Given the description of an element on the screen output the (x, y) to click on. 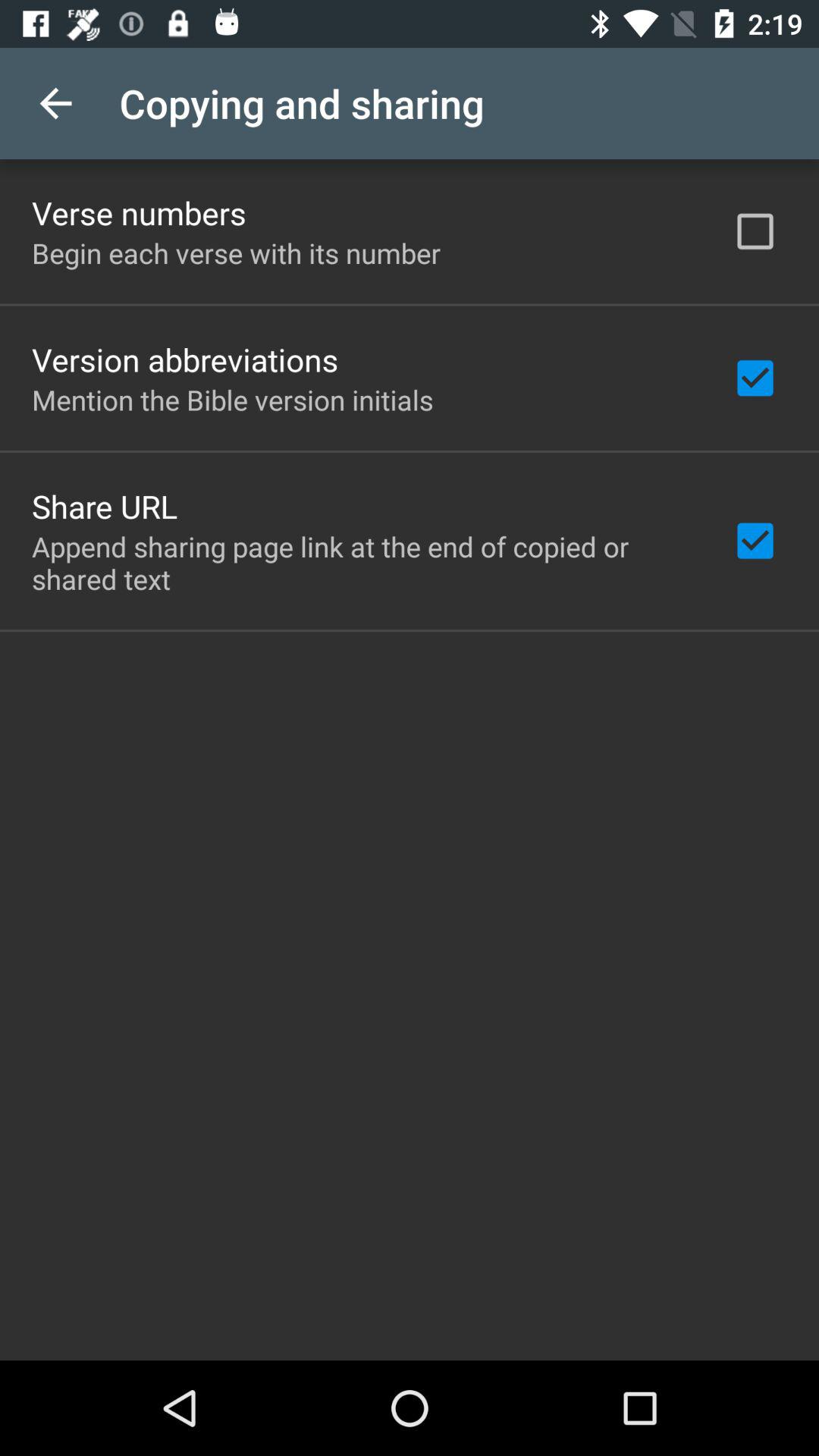
turn off app to the left of the copying and sharing (55, 103)
